Given the description of an element on the screen output the (x, y) to click on. 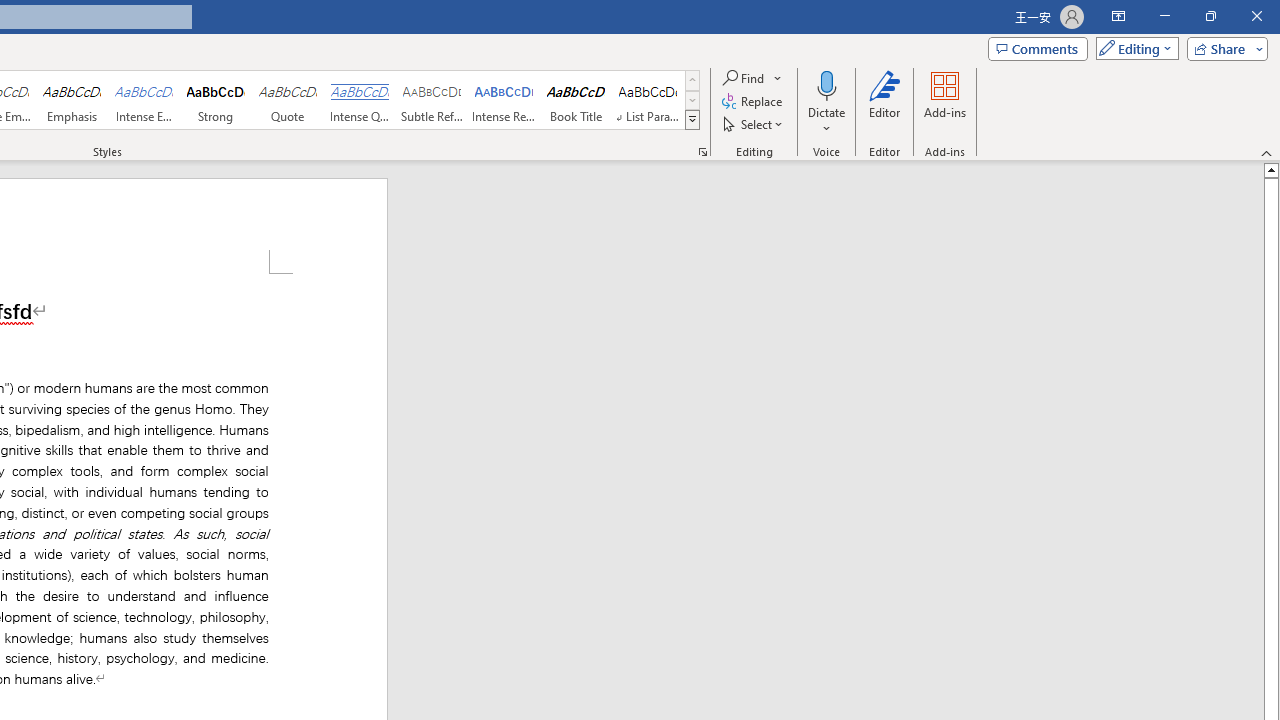
Book Title (575, 100)
Subtle Reference (431, 100)
Intense Reference (504, 100)
Emphasis (71, 100)
